Given the description of an element on the screen output the (x, y) to click on. 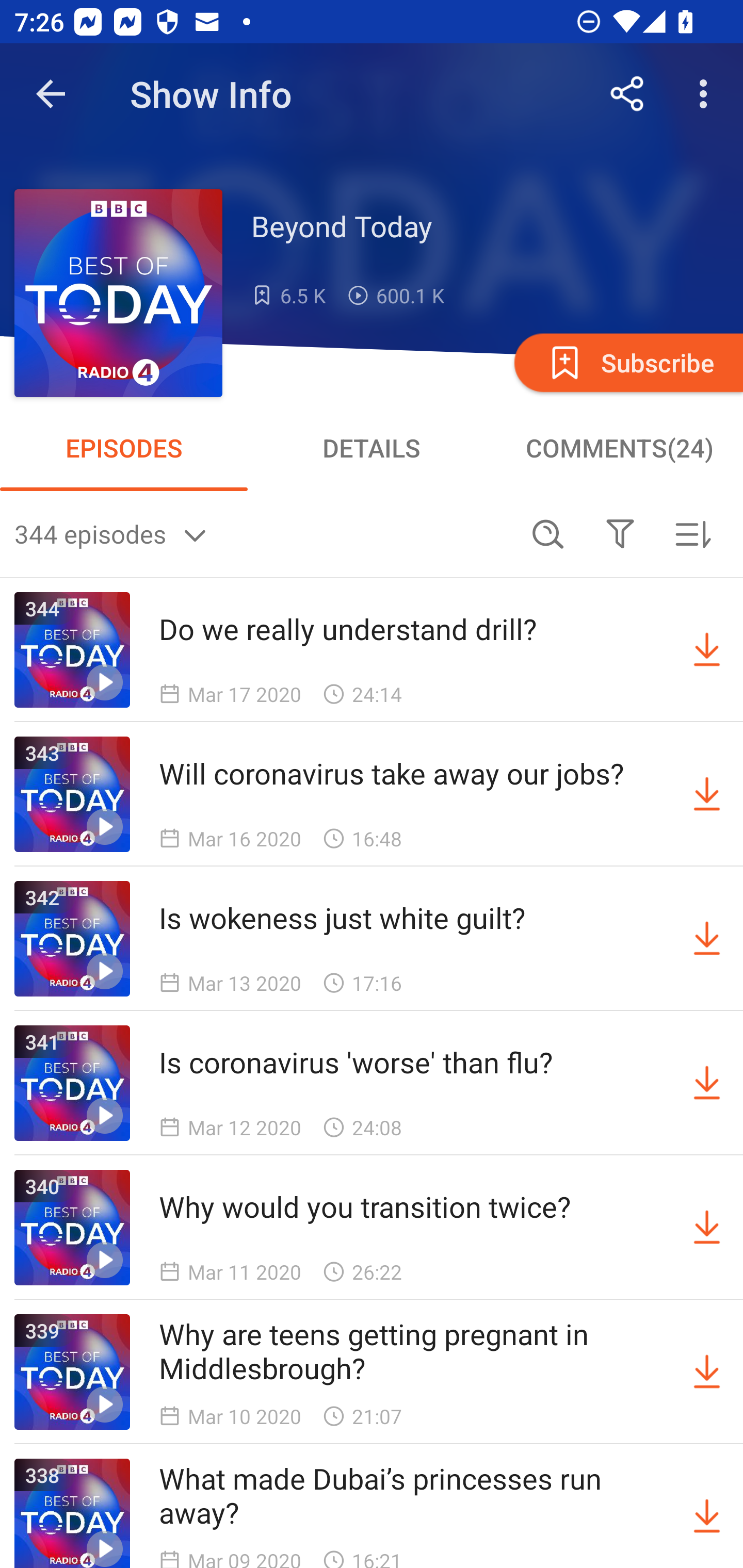
Navigate up (50, 93)
Share (626, 93)
More options (706, 93)
Subscribe (627, 361)
EPISODES (123, 447)
DETAILS (371, 447)
COMMENTS(24) (619, 447)
344 episodes  (262, 533)
 Search (547, 533)
 (619, 533)
 Sorted by newest first (692, 533)
Download (706, 649)
Download (706, 793)
Download (706, 939)
Download (706, 1083)
Download (706, 1227)
Download (706, 1371)
Download (706, 1513)
